Given the description of an element on the screen output the (x, y) to click on. 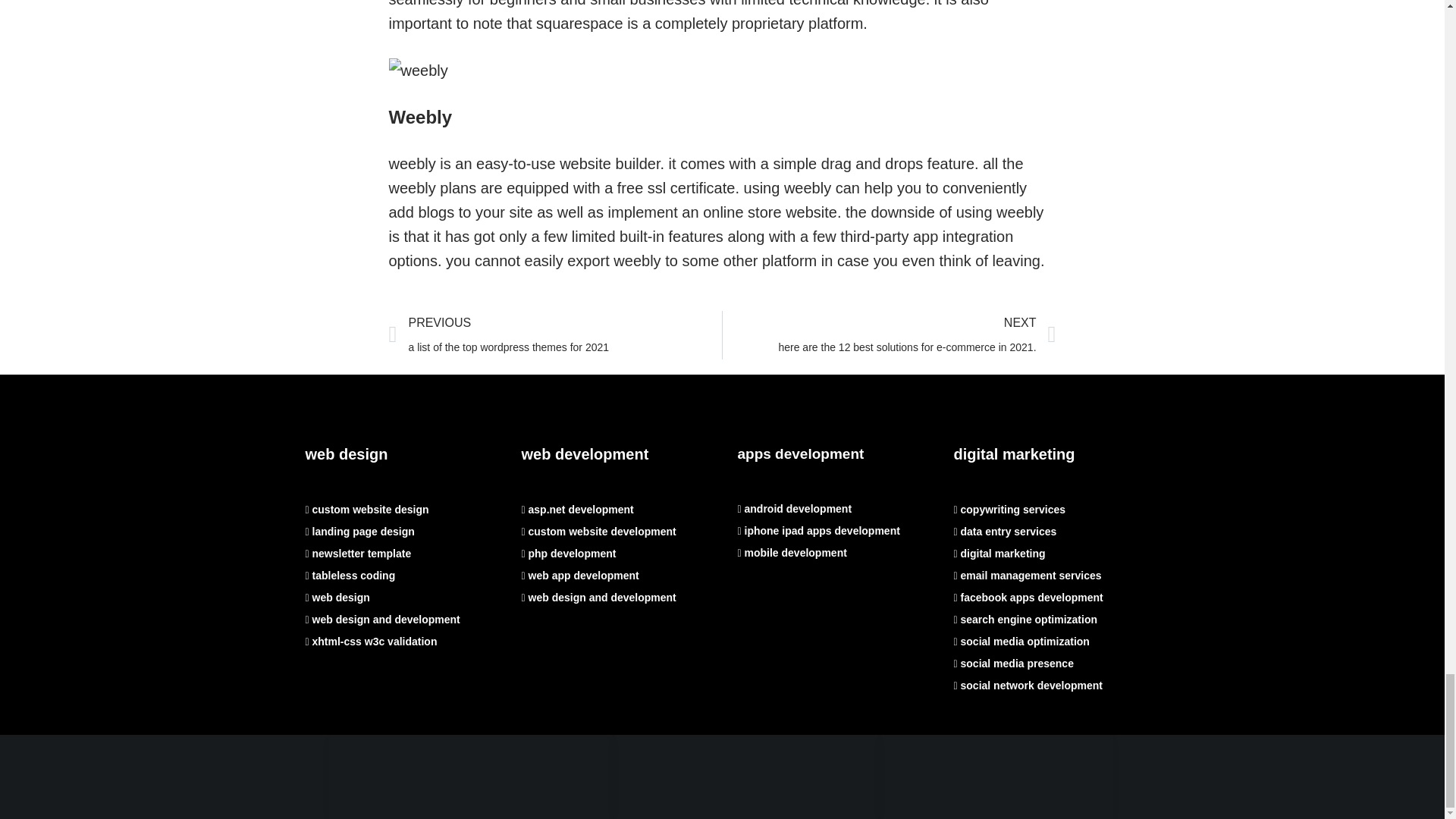
copywriting services (1009, 509)
php development (568, 553)
custom website development (599, 531)
web development (585, 453)
android development (793, 508)
web app development (580, 575)
newsletter template (357, 553)
email management services (889, 335)
